Given the description of an element on the screen output the (x, y) to click on. 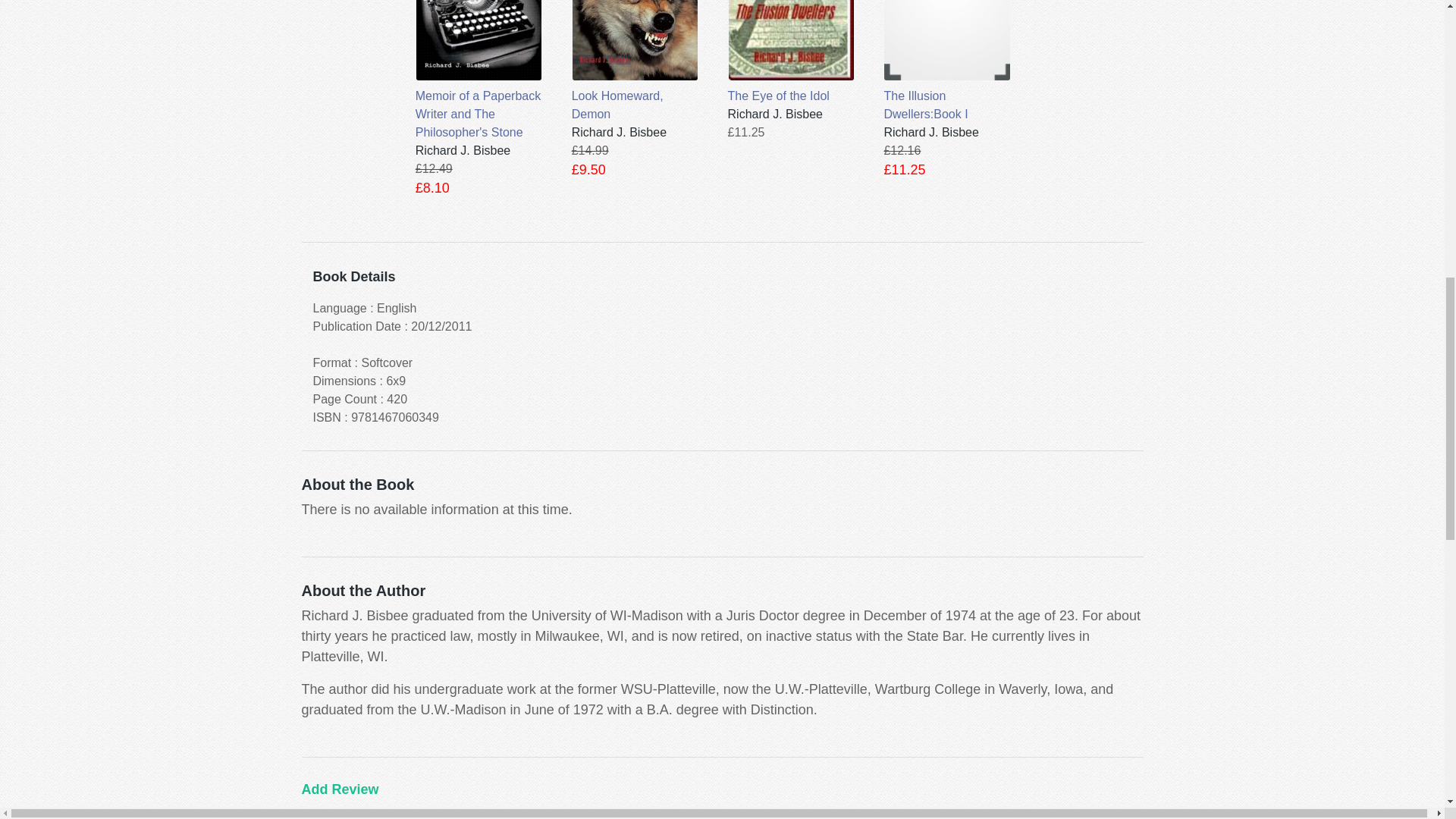
The Eye of the Idol (791, 52)
Look Homeward, Demon (635, 61)
Memoir of a Paperback Writer and The Philosopher's Stone (477, 70)
The Illusion Dwellers:Book I (946, 61)
